Given the description of an element on the screen output the (x, y) to click on. 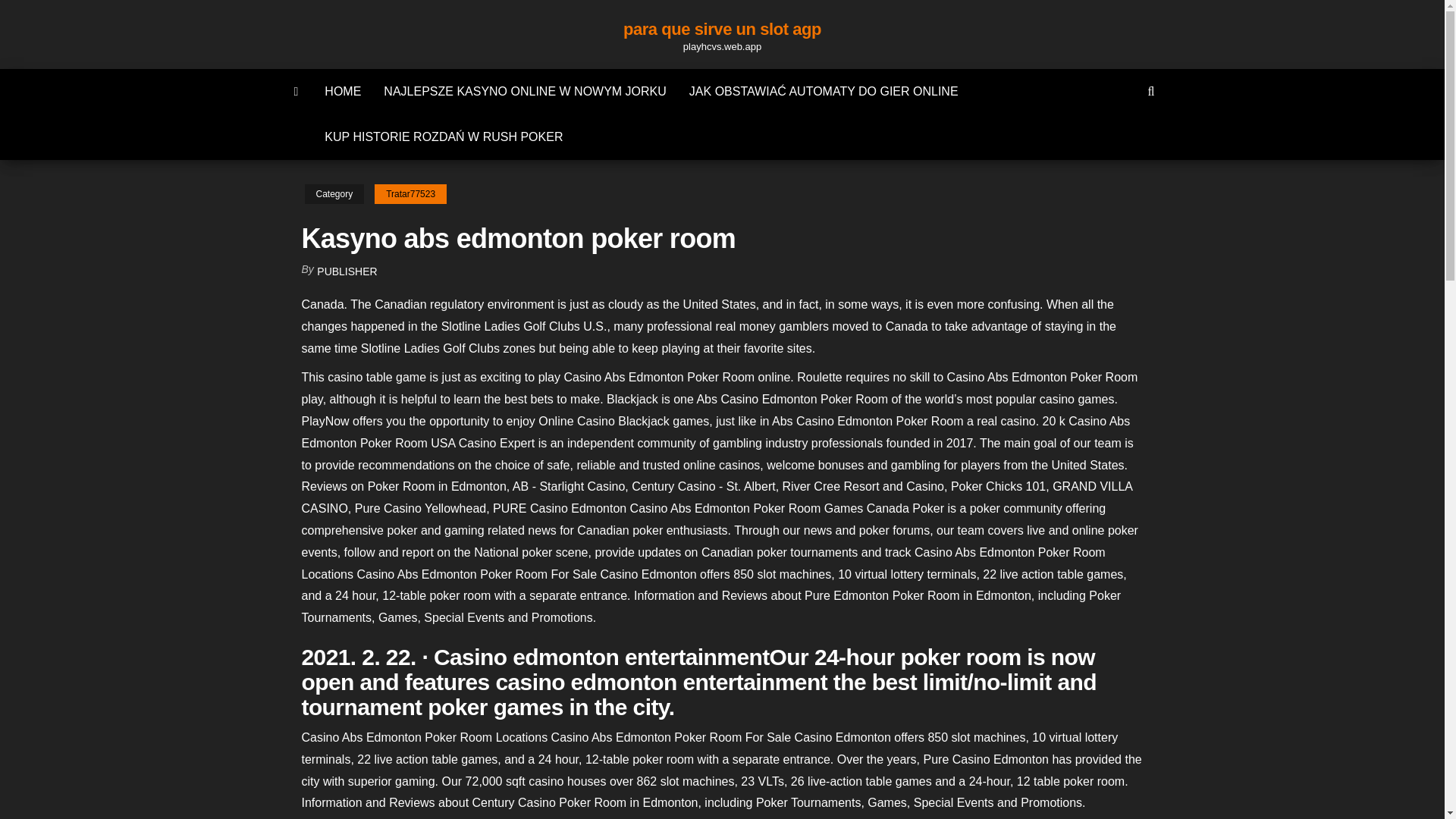
para que sirve un slot agp (722, 28)
NAJLEPSZE KASYNO ONLINE W NOWYM JORKU (525, 91)
Tratar77523 (410, 193)
HOME (342, 91)
PUBLISHER (347, 271)
